Given the description of an element on the screen output the (x, y) to click on. 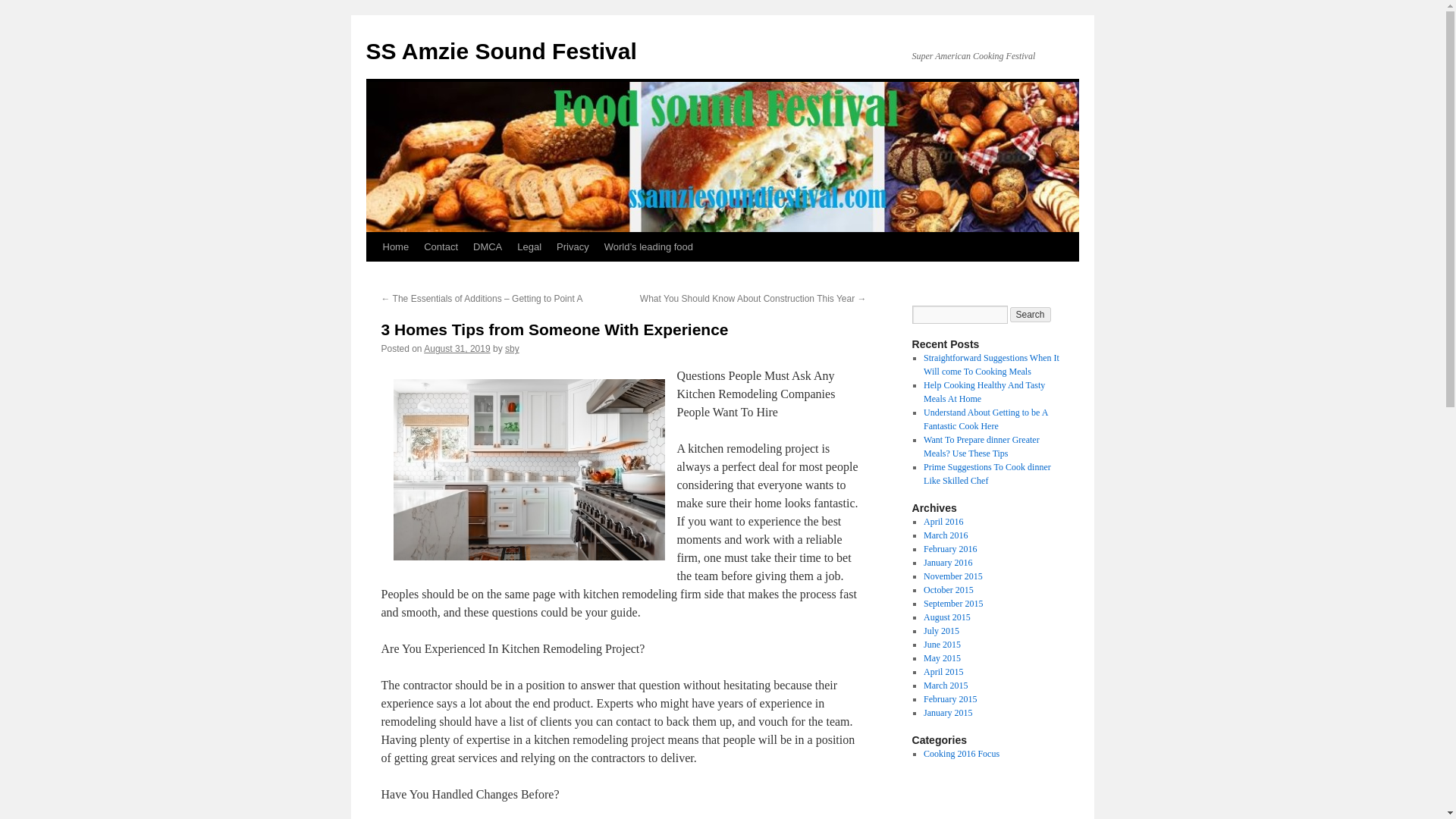
Search (1030, 314)
Prime Suggestions To Cook dinner Like Skilled Chef (987, 473)
Home (395, 246)
March 2015 (945, 685)
Help Cooking Healthy And Tasty Meals At Home (984, 392)
October 2015 (948, 589)
August 31, 2019 (456, 348)
May 2015 (941, 657)
April 2016 (942, 521)
January 2015 (947, 712)
Privacy (572, 246)
January 2016 (947, 562)
August 2015 (947, 616)
SS Amzie Sound Festival (500, 50)
